Given the description of an element on the screen output the (x, y) to click on. 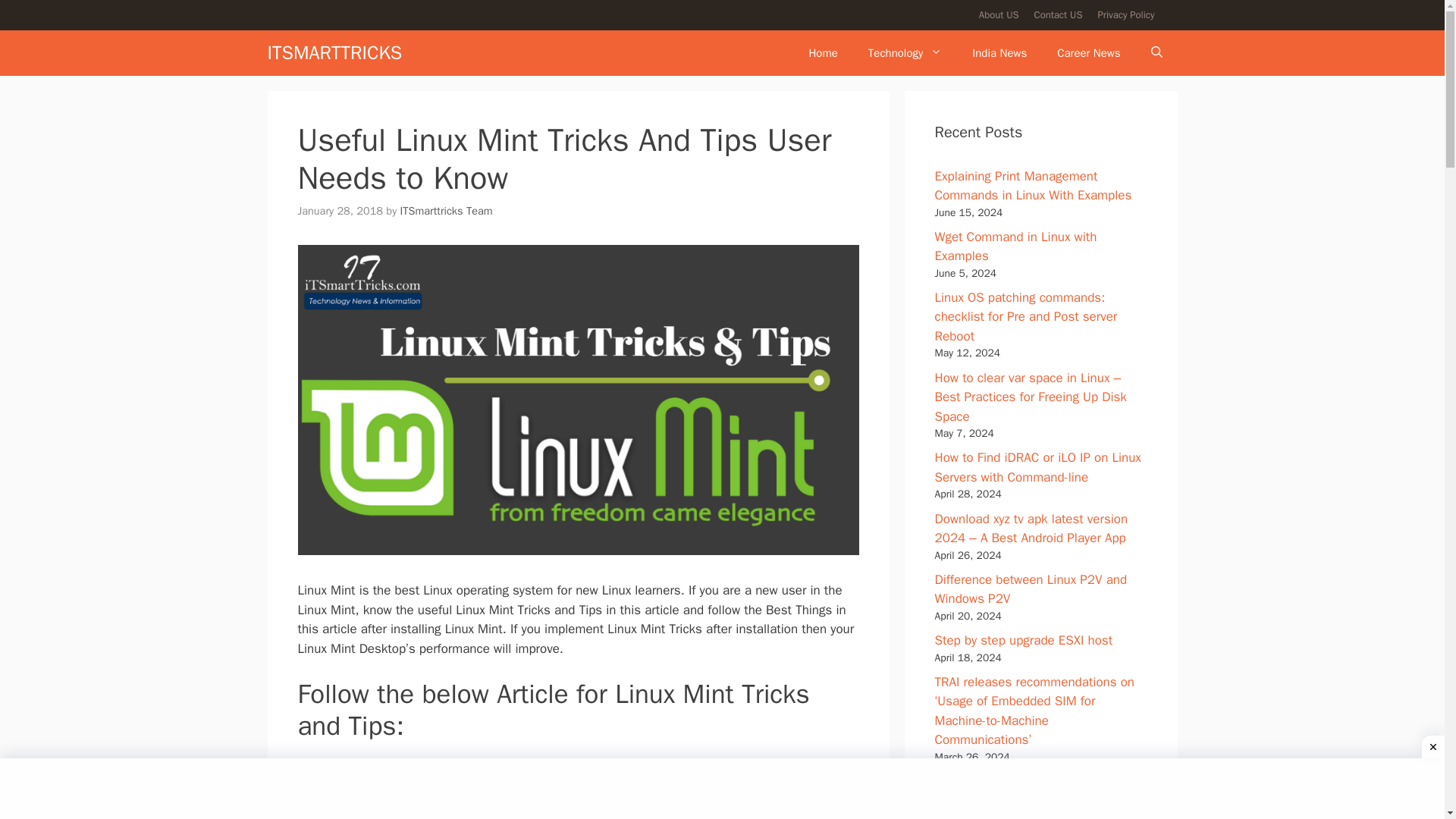
View all posts by ITSmarttricks Team (446, 210)
Home (822, 53)
Privacy Policy (1125, 14)
how to install Linux Mint (432, 765)
Career News (1088, 53)
Contact US (1058, 14)
Technology (905, 53)
About US (998, 14)
ITSmarttricks Team (446, 210)
Linux Mint (341, 785)
ITSMARTTRICKS (333, 52)
India News (999, 53)
